Given the description of an element on the screen output the (x, y) to click on. 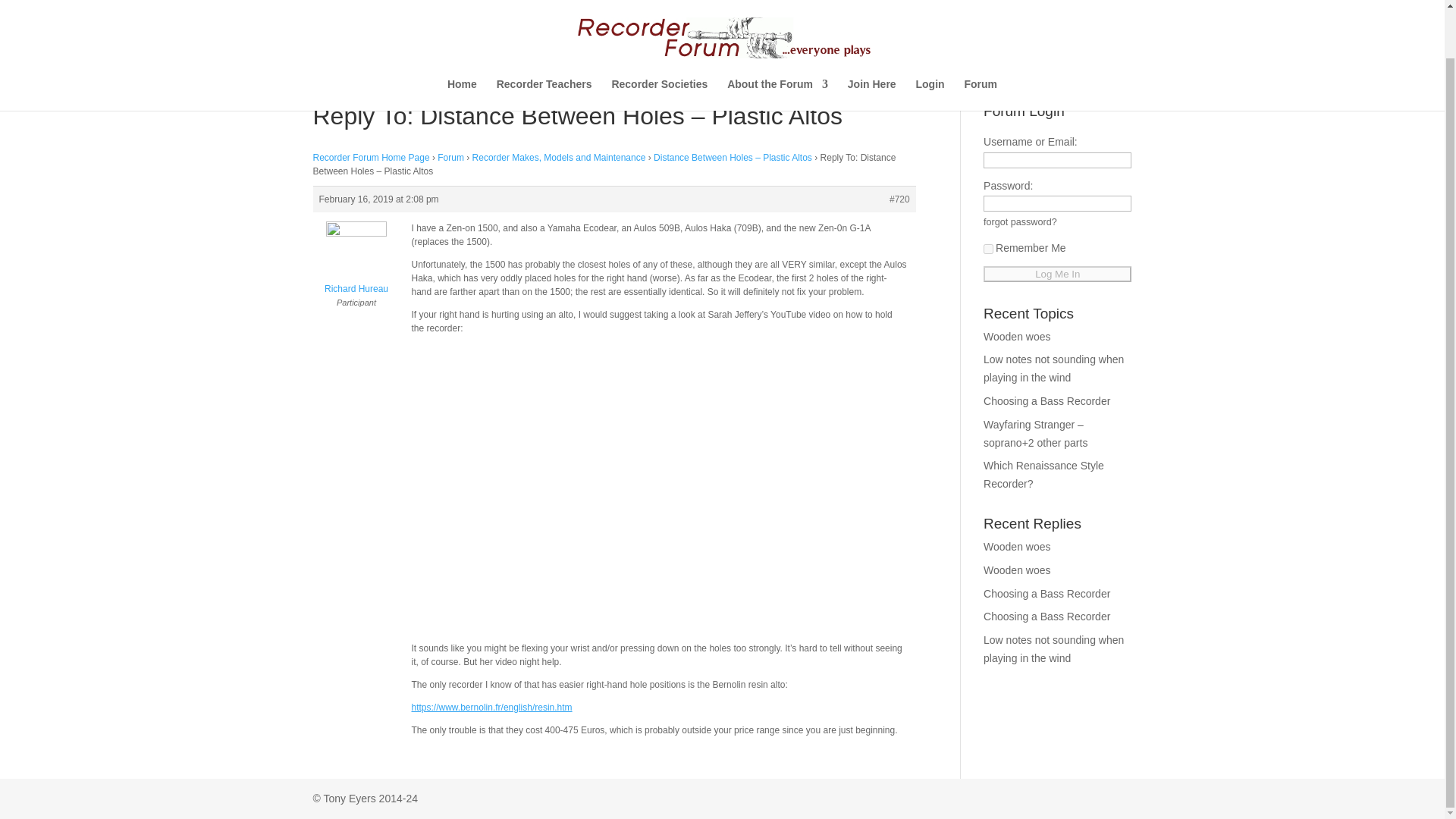
Recorder Societies (659, 42)
About the Forum (777, 42)
Forum (980, 42)
Richard Hureau (355, 261)
Log Me In (1057, 273)
Wooden woes (1016, 336)
Log Me In (1057, 273)
forever (988, 248)
Which Renaissance Style Recorder? (1043, 474)
Low notes not sounding when playing in the wind (1054, 648)
Home (461, 42)
Choosing a Bass Recorder (1046, 616)
View Richard Hureau's profile (355, 261)
forgot password? (1020, 222)
Password (1057, 203)
